Given the description of an element on the screen output the (x, y) to click on. 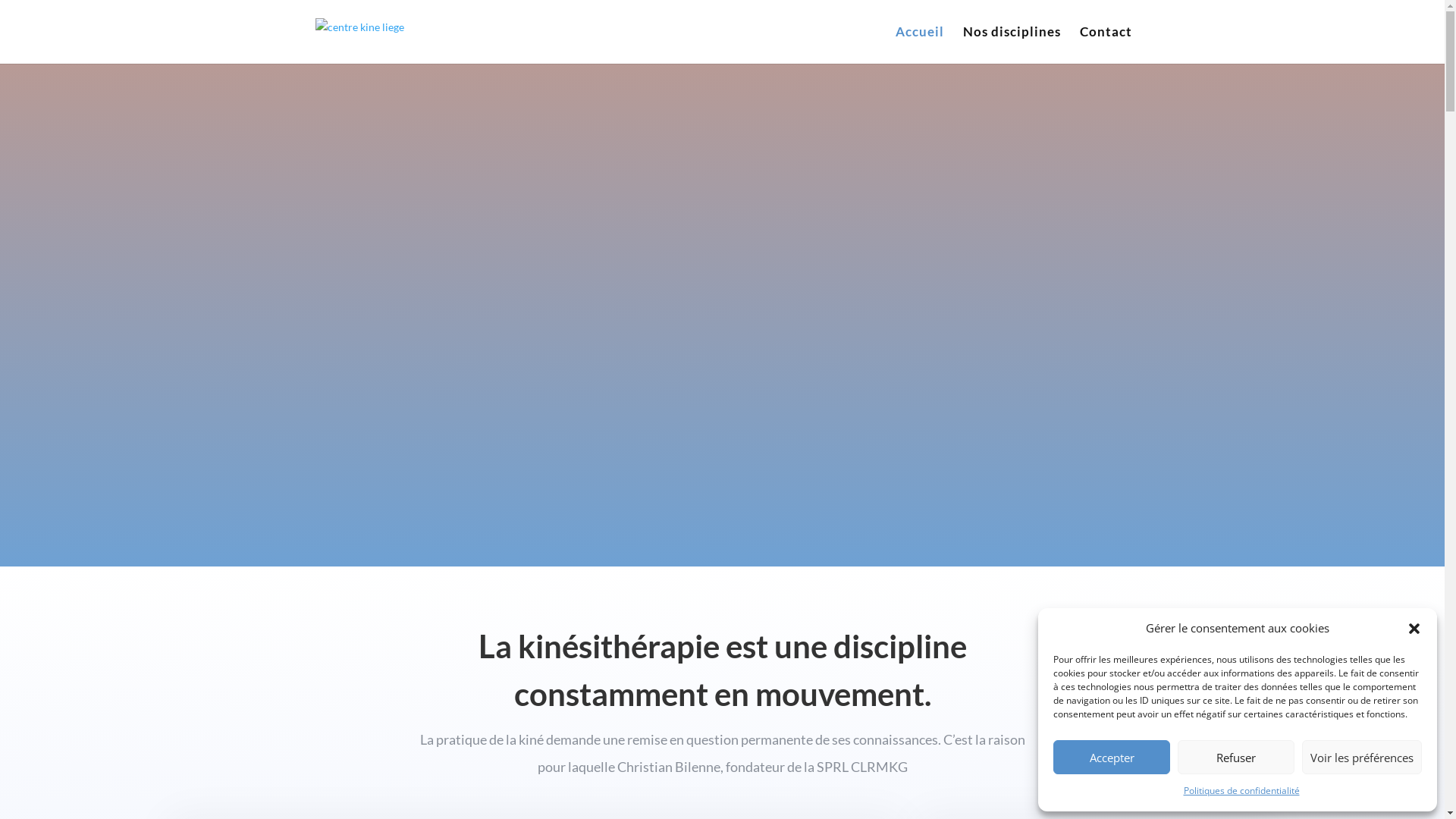
Accueil Element type: text (918, 44)
Refuser Element type: text (1235, 757)
Accepter Element type: text (1111, 757)
Nos disciplines Element type: text (1011, 44)
Contact Element type: text (1105, 44)
